Given the description of an element on the screen output the (x, y) to click on. 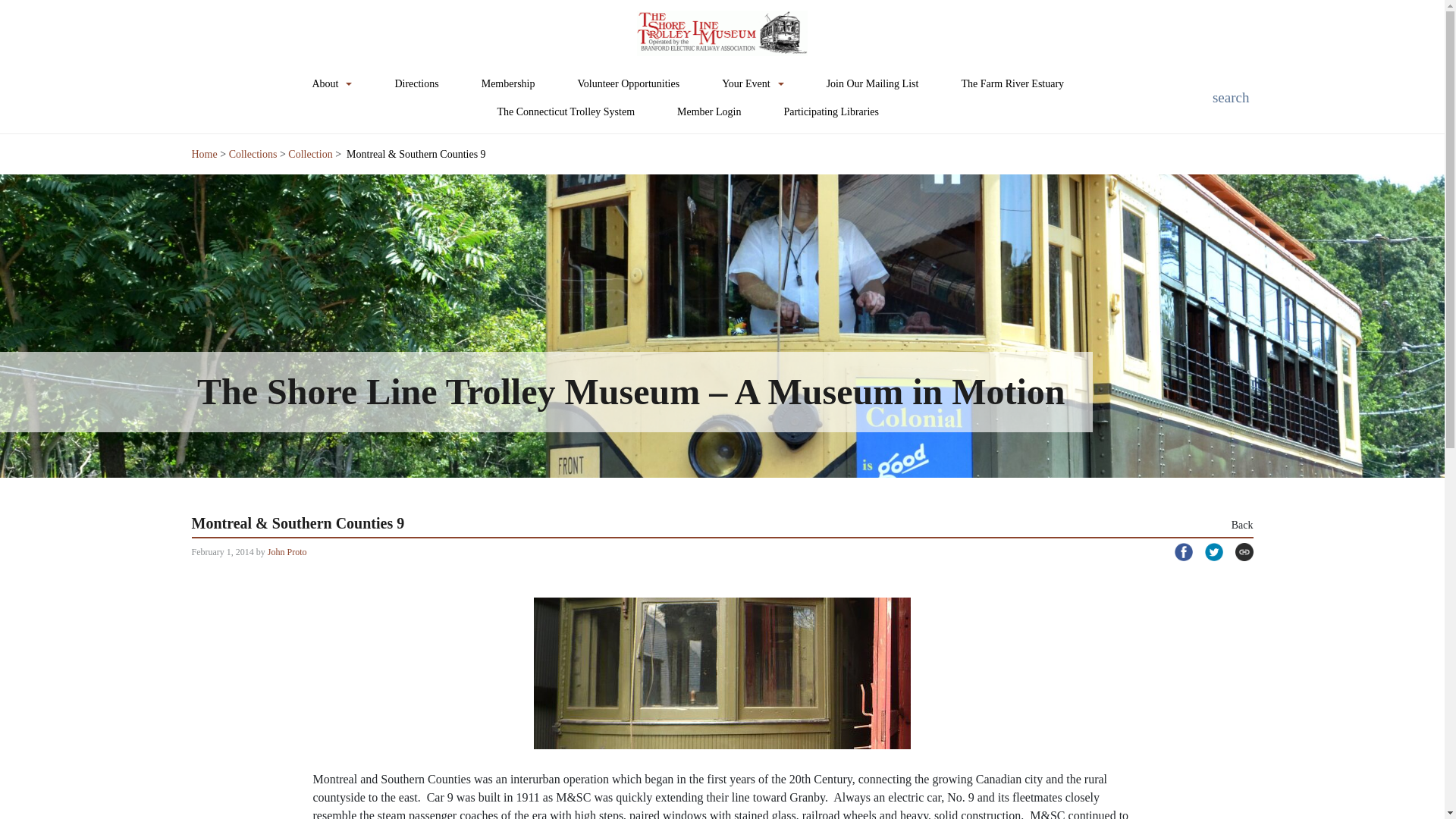
Membership (508, 83)
Directions (416, 83)
Your Event (753, 83)
Back (1242, 524)
Directions (416, 83)
Volunteer Opportunities (627, 83)
Member Login (708, 111)
Collections (253, 153)
Join Our Mailing List (872, 83)
Collection (309, 153)
